Given the description of an element on the screen output the (x, y) to click on. 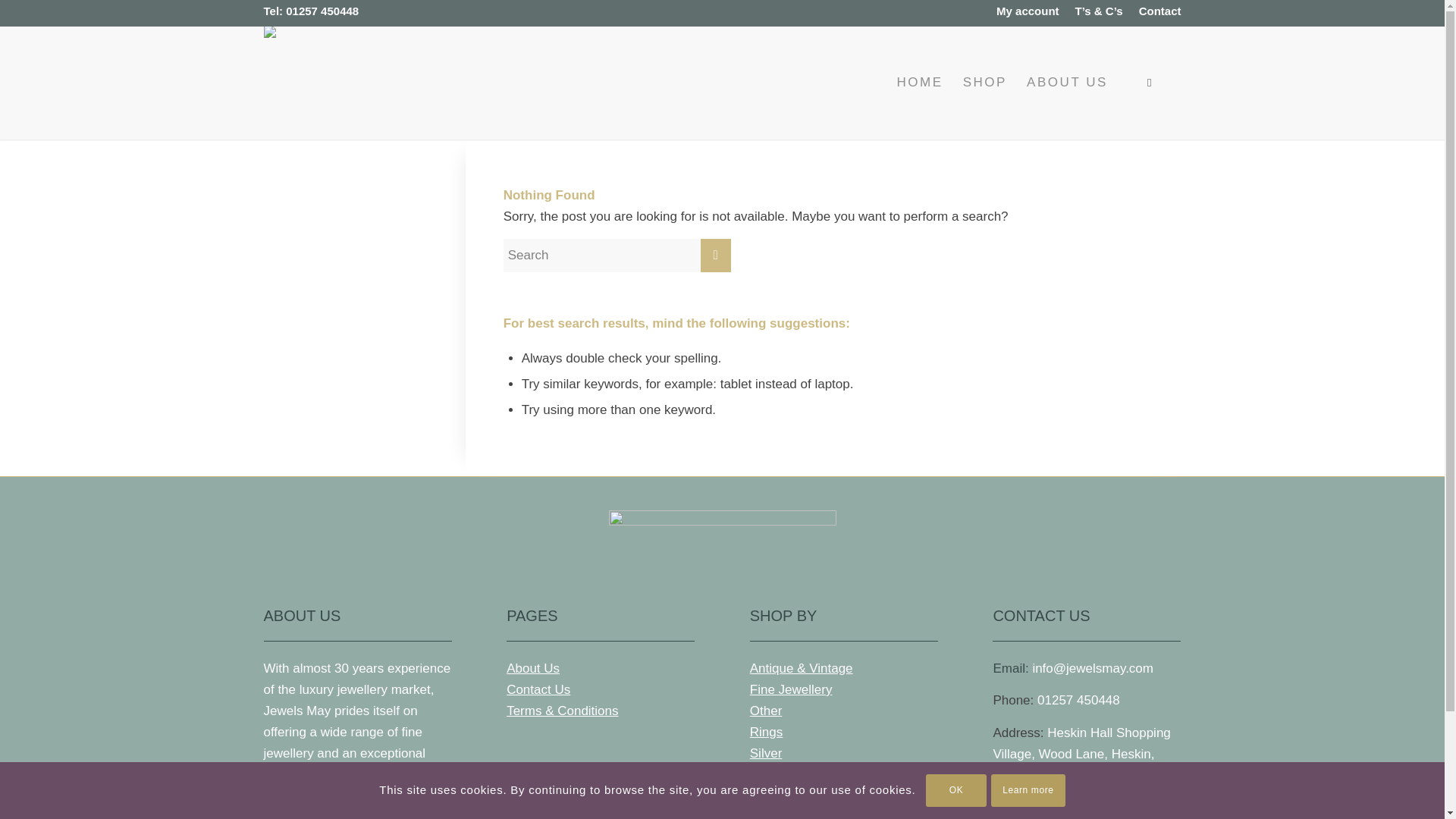
OK (956, 789)
Contact Us (538, 689)
Learn more (1028, 789)
My account (1027, 11)
Rings (766, 731)
Other (766, 710)
Contact (1159, 11)
About Us (532, 667)
Fine Jewellery (790, 689)
Watches (774, 774)
